Given the description of an element on the screen output the (x, y) to click on. 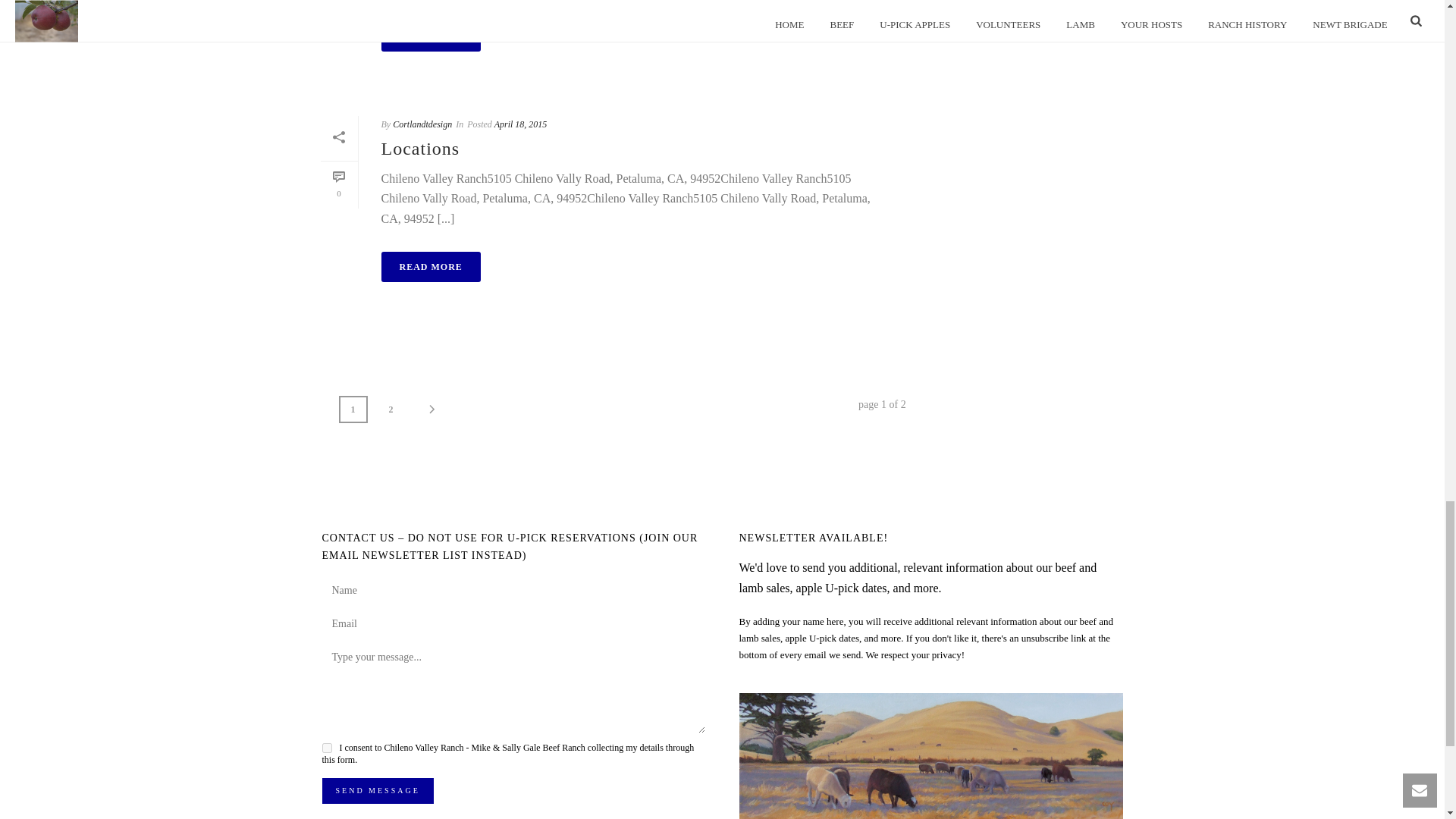
READ MORE (430, 36)
Posts by Cortlandtdesign (422, 123)
READ MORE (430, 266)
